Given the description of an element on the screen output the (x, y) to click on. 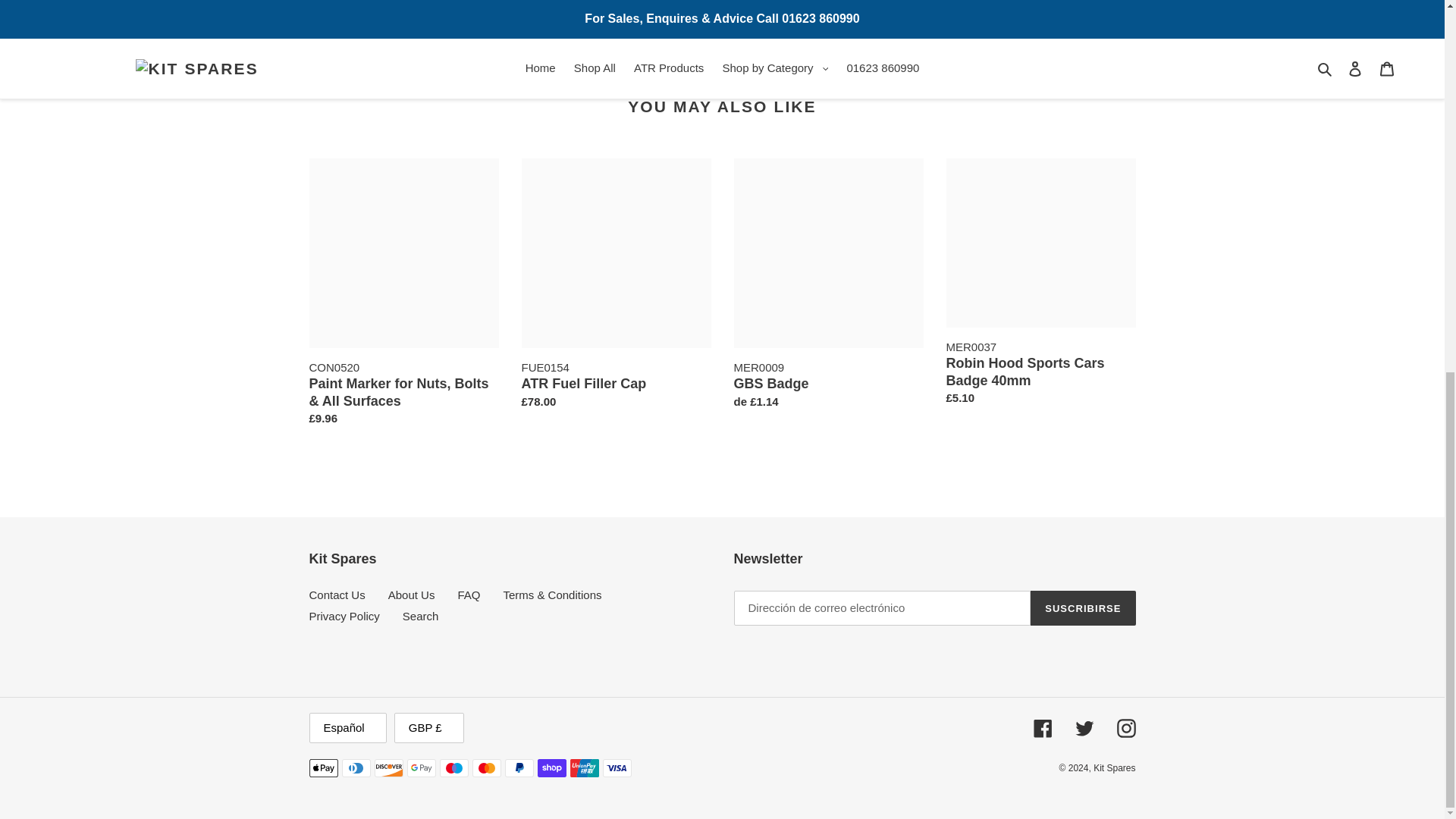
Shop Pay (551, 768)
Diners Club (354, 768)
Maestro (453, 768)
Discover (388, 768)
Union Pay (584, 768)
Mastercard (485, 768)
Visa (616, 768)
PayPal (519, 768)
Google Pay (420, 768)
Apple Pay (322, 768)
